Given the description of an element on the screen output the (x, y) to click on. 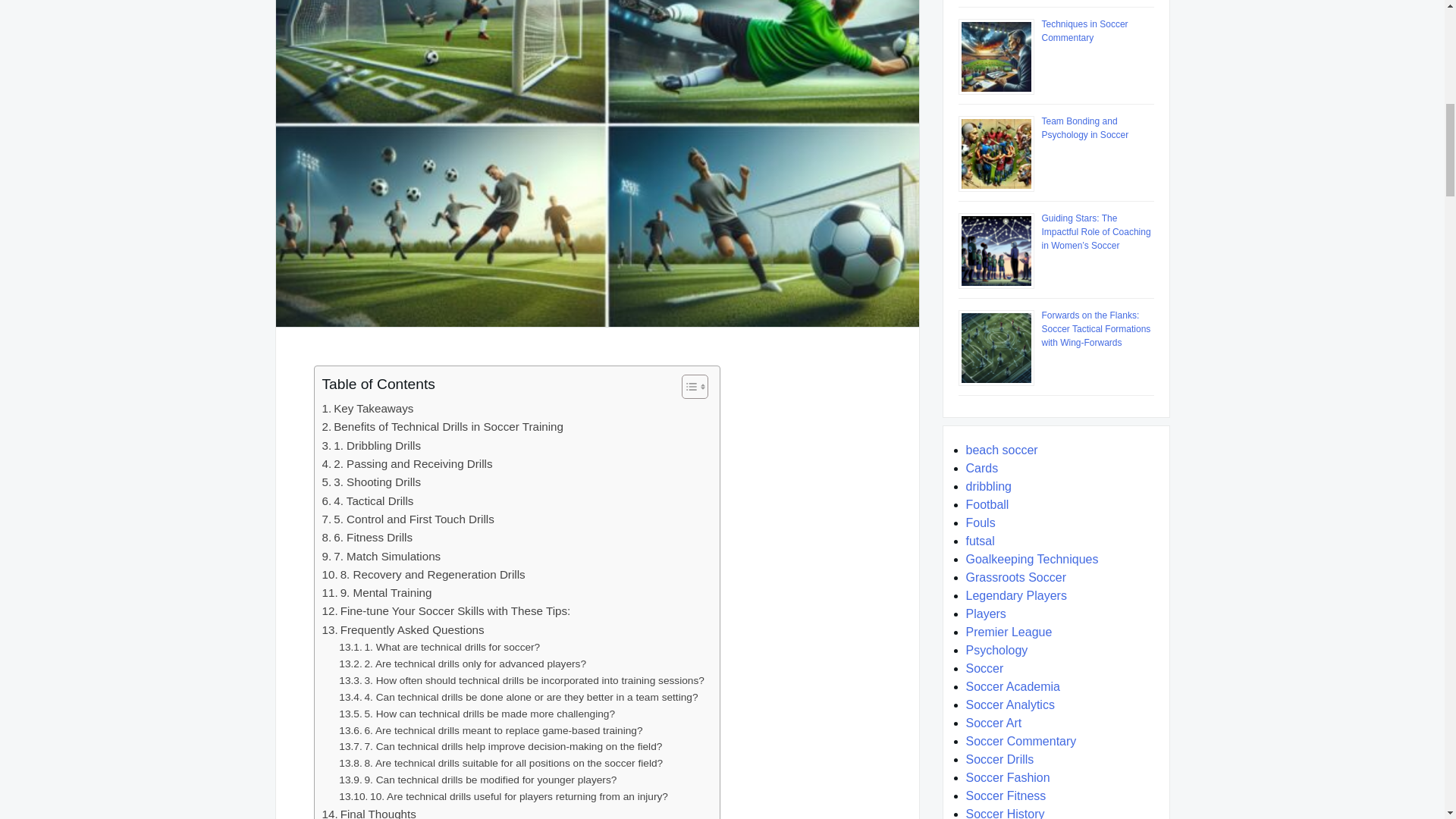
3. Shooting Drills (370, 482)
1. What are technical drills for soccer? (439, 647)
4. Tactical Drills (367, 501)
4. Tactical Drills (367, 501)
Benefits of Technical Drills in Soccer Training (441, 426)
6. Fitness Drills (366, 537)
7. Match Simulations (381, 556)
9. Can technical drills be modified for younger players? (477, 780)
2. Passing and Receiving Drills (406, 464)
5. Control and First Touch Drills (407, 519)
8. Recovery and Regeneration Drills (422, 574)
